Given the description of an element on the screen output the (x, y) to click on. 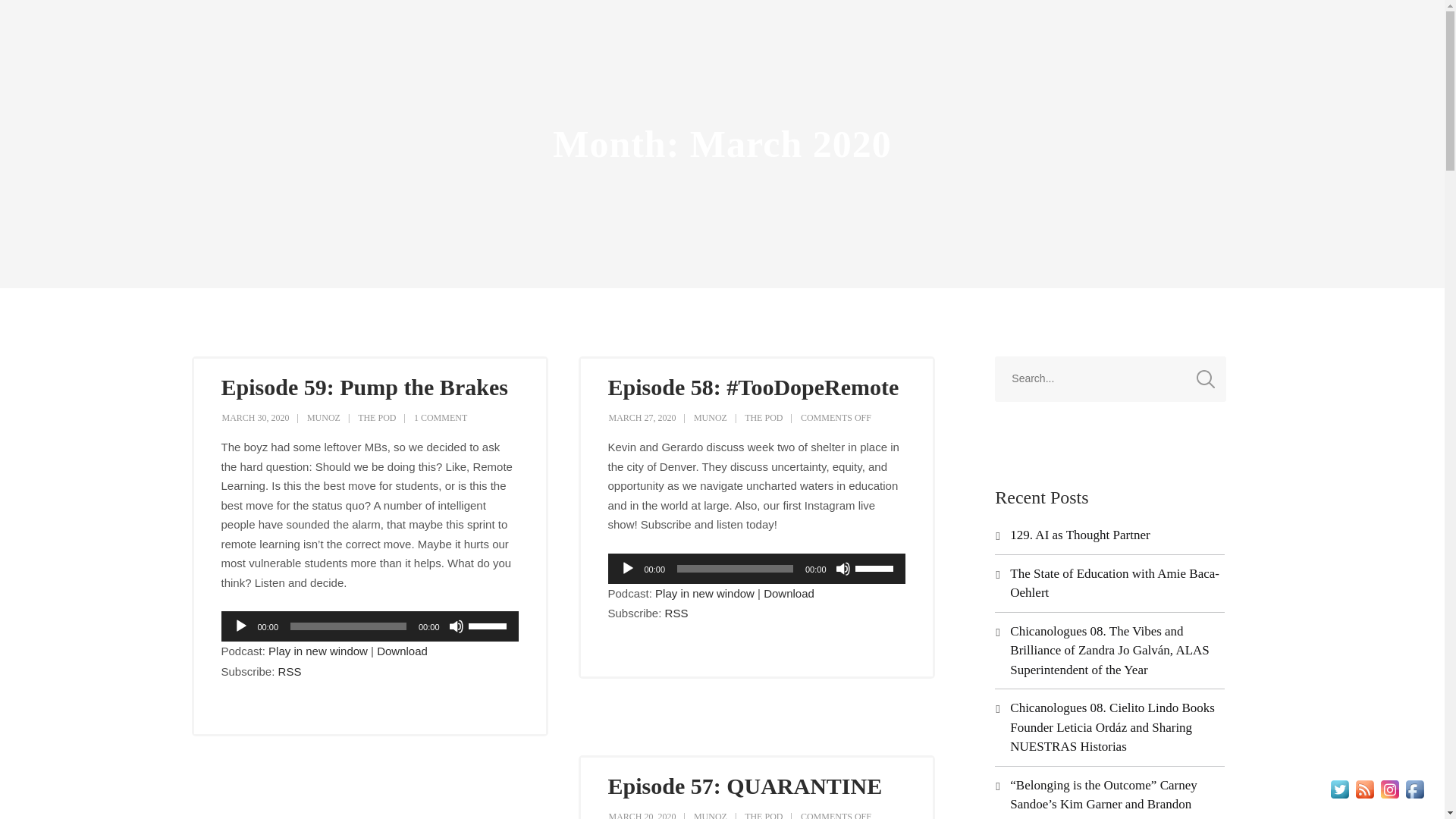
THE POD (377, 417)
129. AI as Thought Partner (1080, 534)
Play in new window (317, 650)
Subscribe via RSS (676, 612)
Play in new window (704, 593)
MARCH 27, 2020 (641, 417)
RSS (676, 612)
1 COMMENT (440, 417)
MARCH 30, 2020 (254, 417)
Download (787, 593)
